Given the description of an element on the screen output the (x, y) to click on. 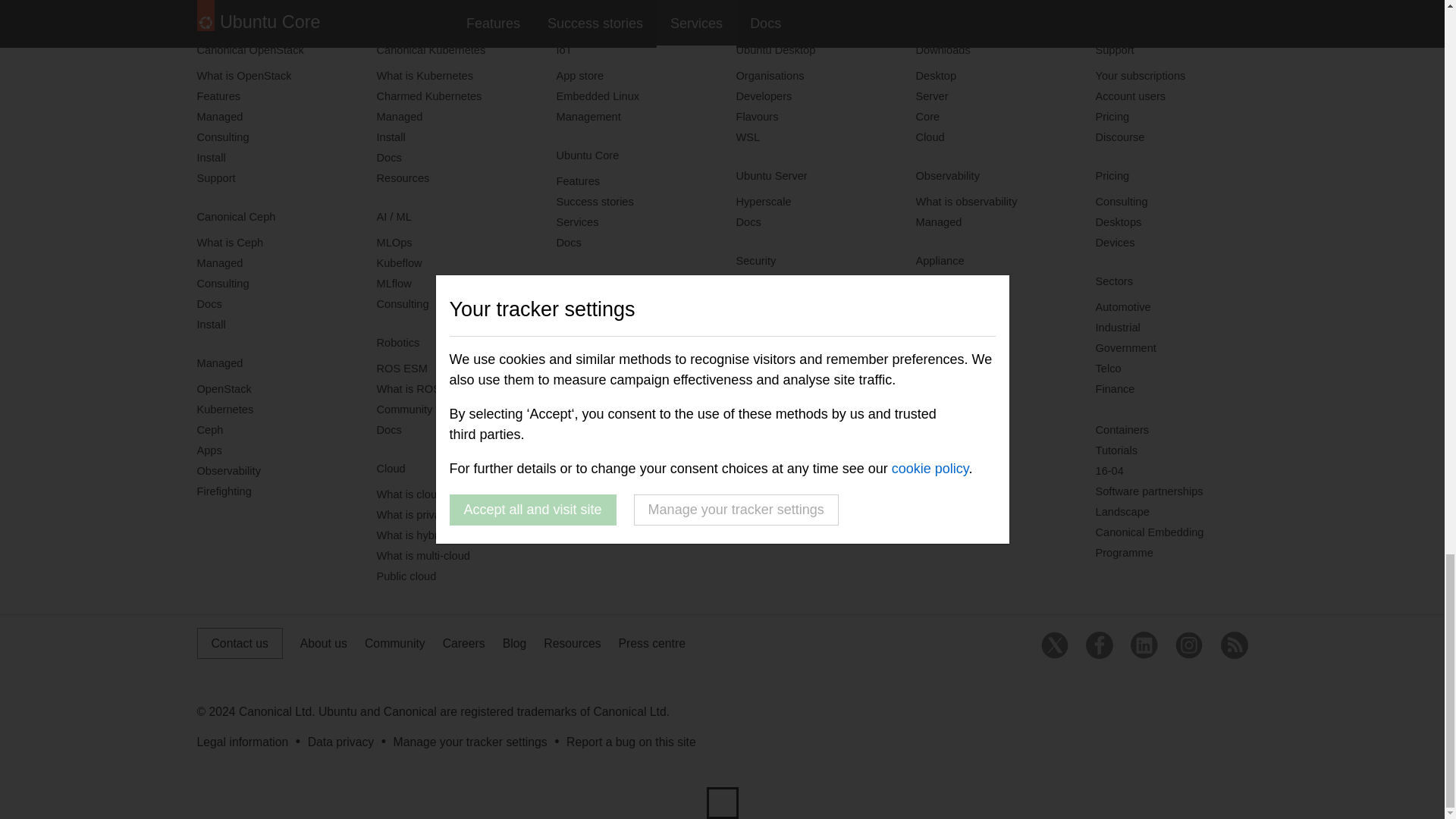
Use the Ubuntu Blog rss feed (1234, 645)
Follow Ubuntu on Twitter (1054, 645)
Find Canonical on LinkedIn (1144, 645)
Follow Ubuntu on Instagram (1188, 645)
Follow Ubuntu on Facebook (1099, 645)
